Given the description of an element on the screen output the (x, y) to click on. 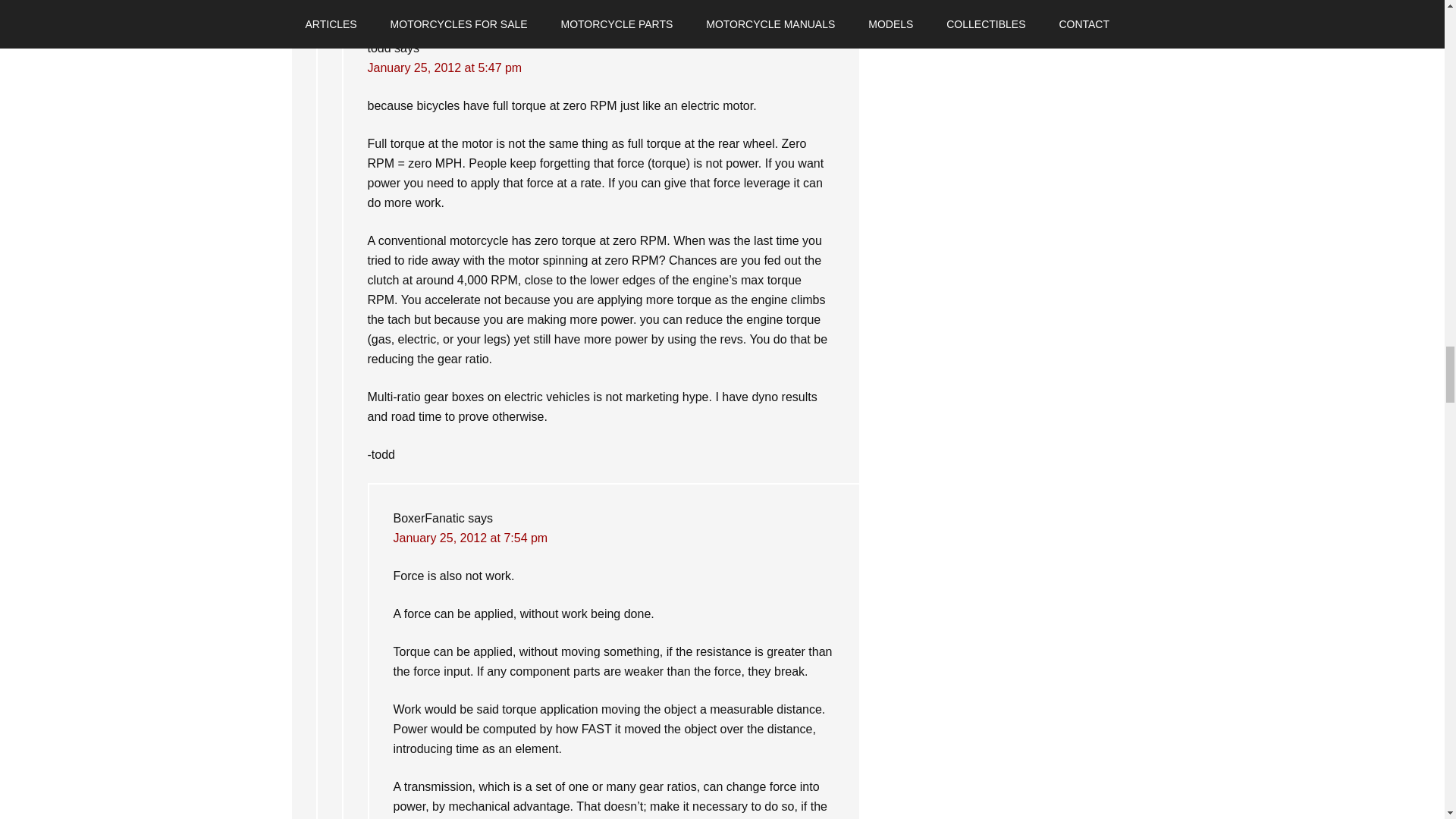
January 25, 2012 at 5:47 pm (443, 67)
January 25, 2012 at 7:54 pm (470, 537)
